Given the description of an element on the screen output the (x, y) to click on. 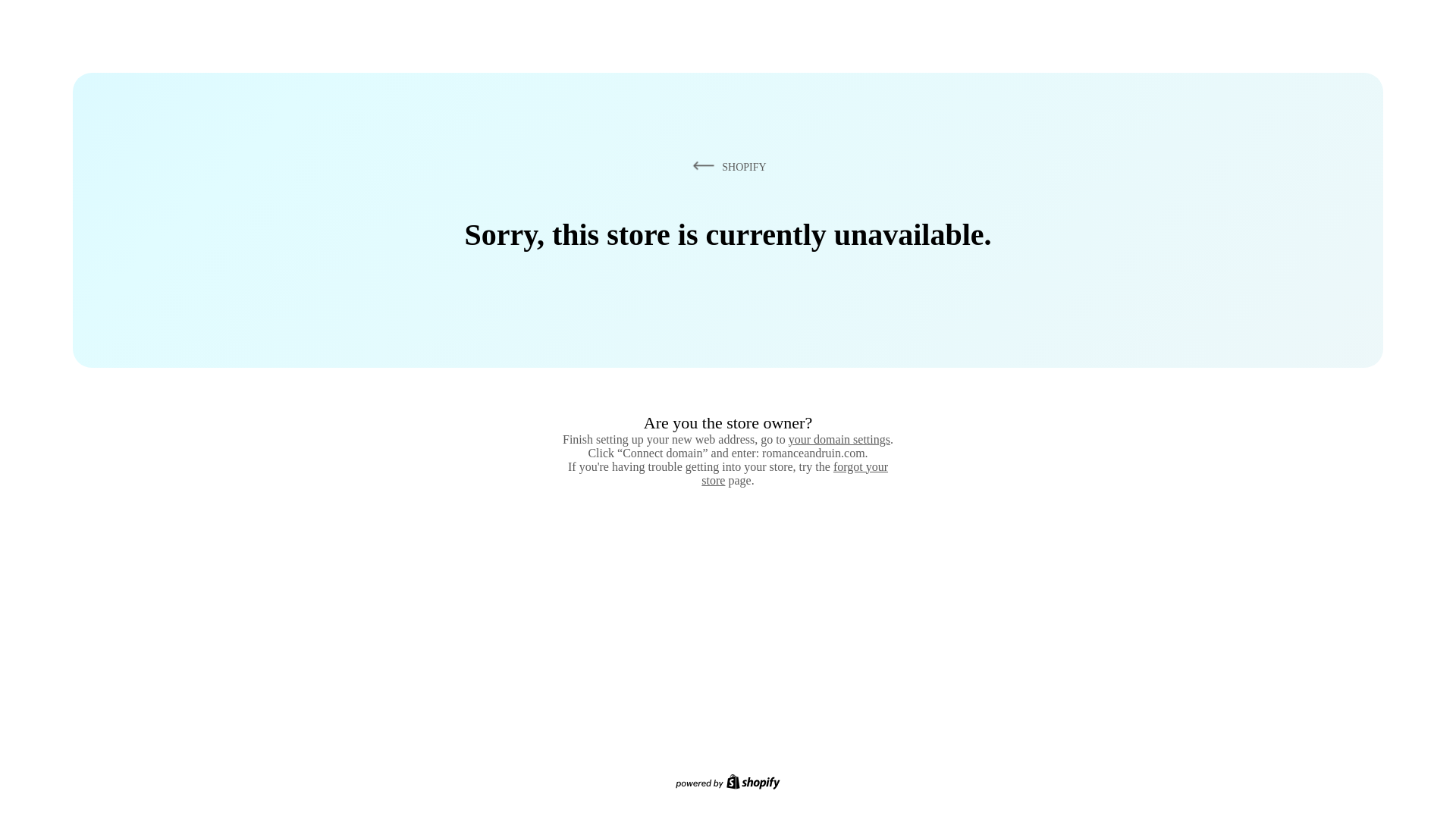
SHOPIFY (726, 166)
forgot your store (794, 473)
your domain settings (839, 439)
